Given the description of an element on the screen output the (x, y) to click on. 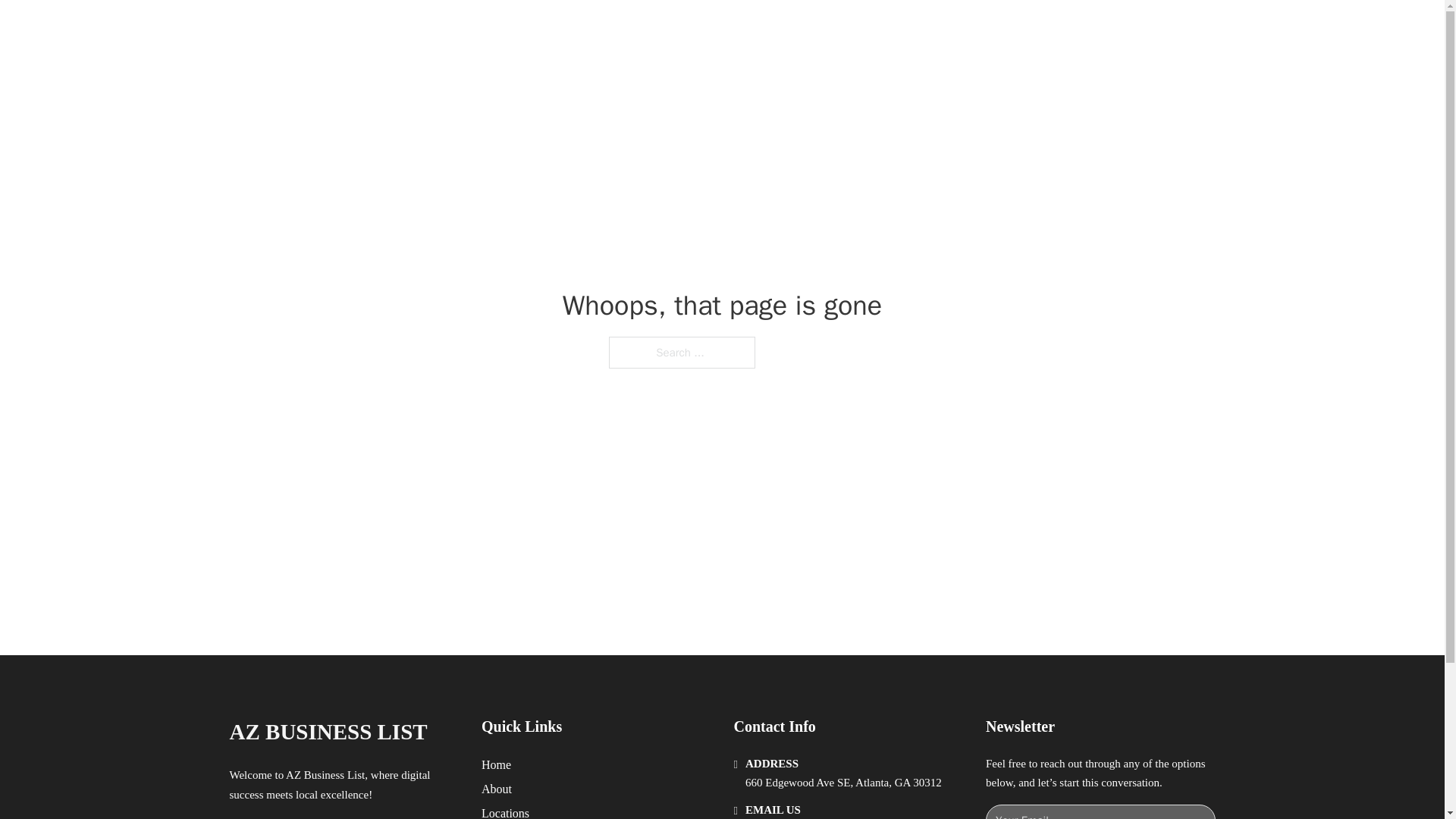
Locations (505, 811)
Home (496, 764)
HOME (919, 29)
About (496, 788)
AZ BUSINESS LIST (327, 732)
AZ BUSINESS LIST (403, 28)
LOCATIONS (990, 29)
